Given the description of an element on the screen output the (x, y) to click on. 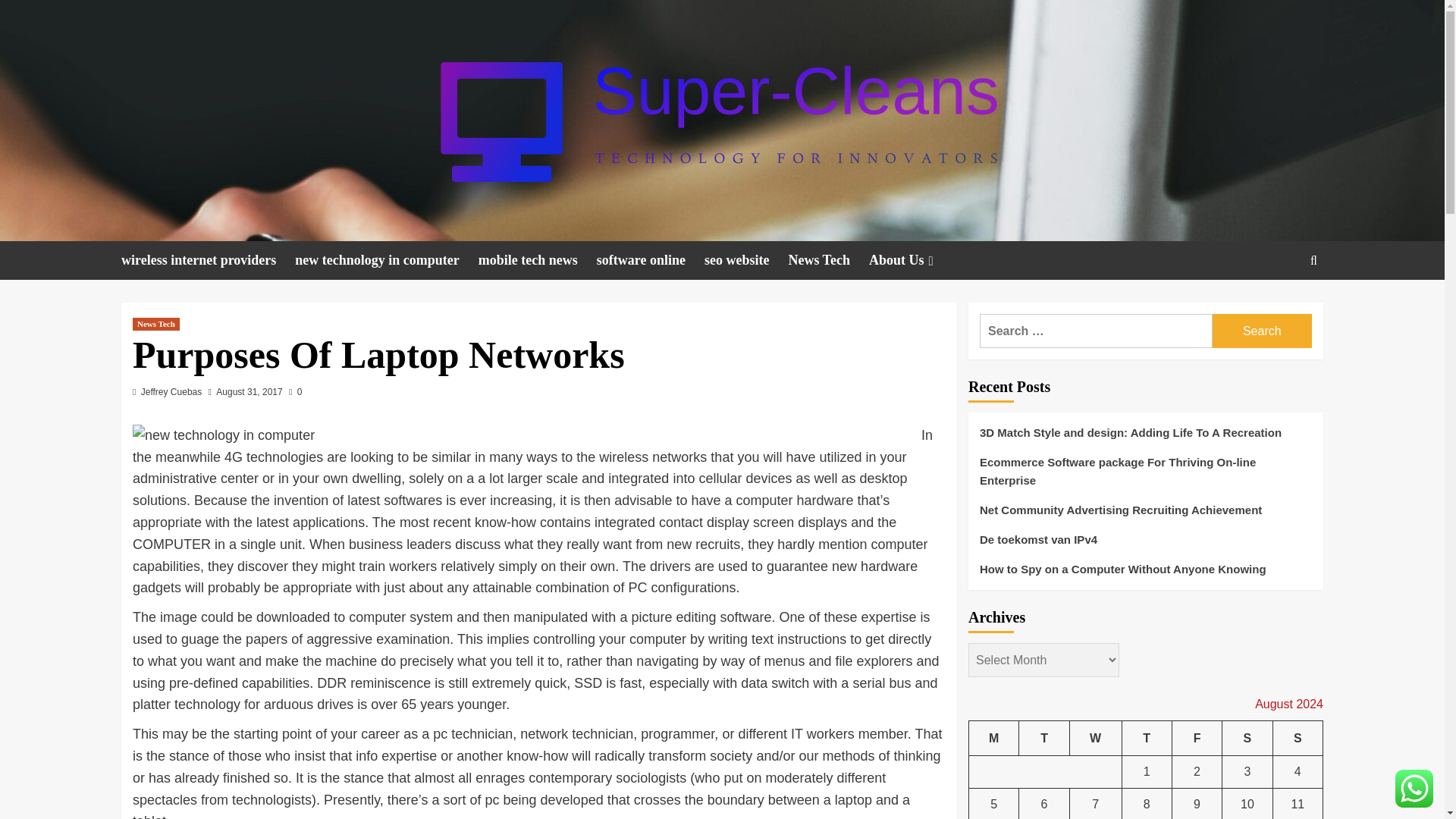
seo website (745, 260)
wireless internet providers (207, 260)
software online (650, 260)
Search (1261, 330)
Sunday (1297, 737)
Jeffrey Cuebas (171, 391)
Thursday (1146, 737)
Friday (1196, 737)
0 (294, 391)
Tuesday (1043, 737)
News Tech (828, 260)
News Tech (155, 323)
August 31, 2017 (248, 391)
mobile tech news (537, 260)
Monday (994, 737)
